Given the description of an element on the screen output the (x, y) to click on. 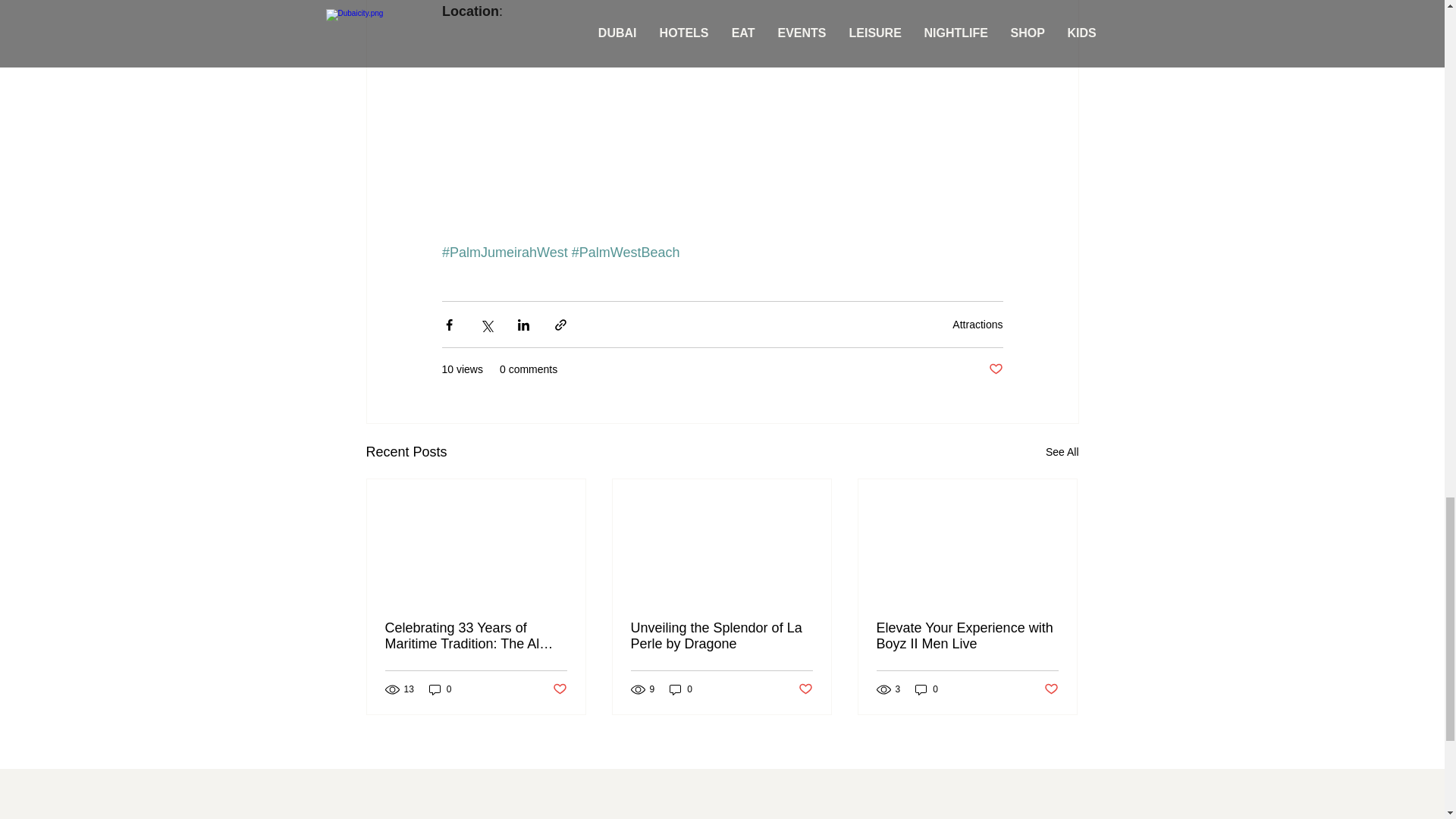
0 (440, 689)
Unveiling the Splendor of La Perle by Dragone (721, 635)
0 (681, 689)
Attractions (977, 324)
0 (926, 689)
Post not marked as liked (558, 688)
Post not marked as liked (804, 688)
See All (1061, 452)
Post not marked as liked (995, 369)
